Given the description of an element on the screen output the (x, y) to click on. 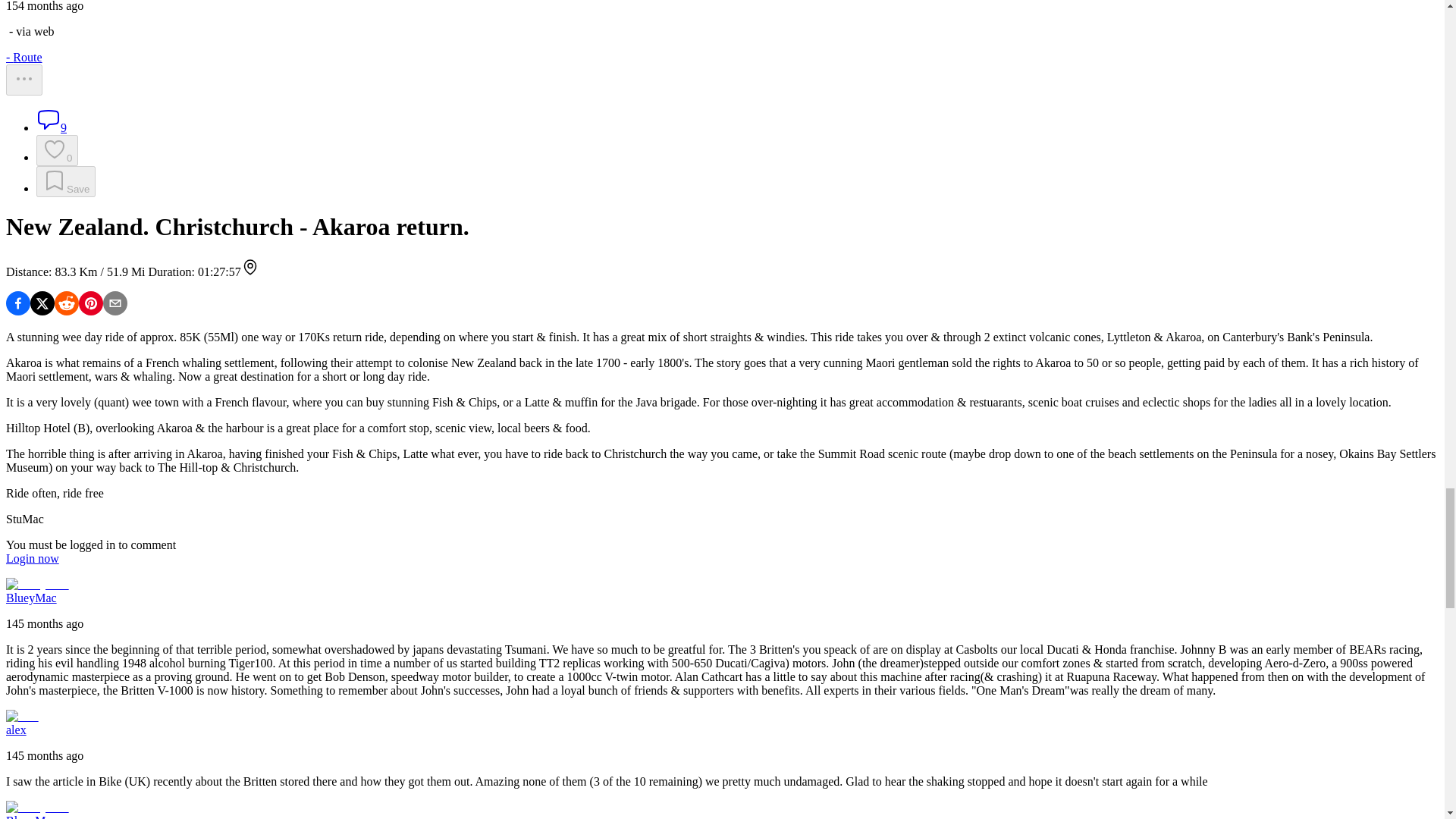
Save (66, 181)
Open Post options (23, 79)
BlueyMac (30, 597)
alex (22, 716)
9 (51, 127)
0 (57, 150)
BlueyMac (36, 584)
alex (15, 729)
BlueyMac (36, 807)
- Route (23, 56)
Login now (32, 558)
